Given the description of an element on the screen output the (x, y) to click on. 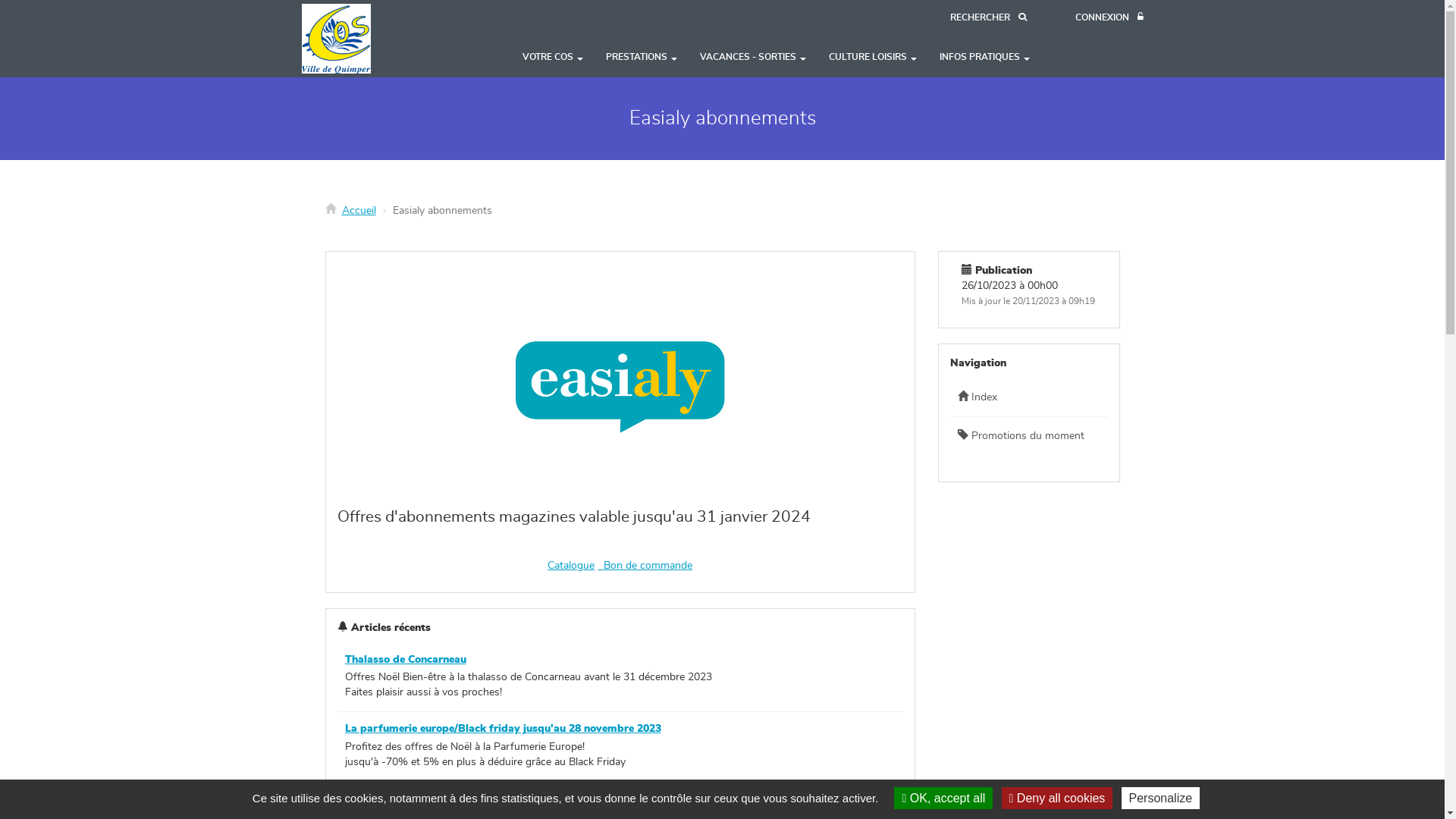
RECHERCHER Element type: text (987, 17)
VOTRE COS Element type: text (552, 56)
Thalasso de Concarneau Element type: text (404, 659)
Accueil Element type: text (358, 210)
 Bon de commande Element type: text (644, 565)
Index Element type: text (1028, 397)
Catalogue Element type: text (570, 565)
PRESTATIONS Element type: text (641, 56)
CONNEXION Element type: text (1109, 17)
CULTURE LOISIRS Element type: text (872, 56)
Deny all cookies Element type: text (1057, 798)
Accueil Element type: hover (362, 38)
Thalasso Valdys Element type: text (385, 798)
Personalize Element type: text (1160, 798)
VACANCES - SORTIES Element type: text (752, 56)
Promotions du moment Element type: text (1028, 436)
OK, accept all Element type: text (943, 798)
La parfumerie europe/Black friday jusqu'au 28 novembre 2023 Element type: text (502, 728)
INFOS PRATIQUES Element type: text (984, 56)
